Given the description of an element on the screen output the (x, y) to click on. 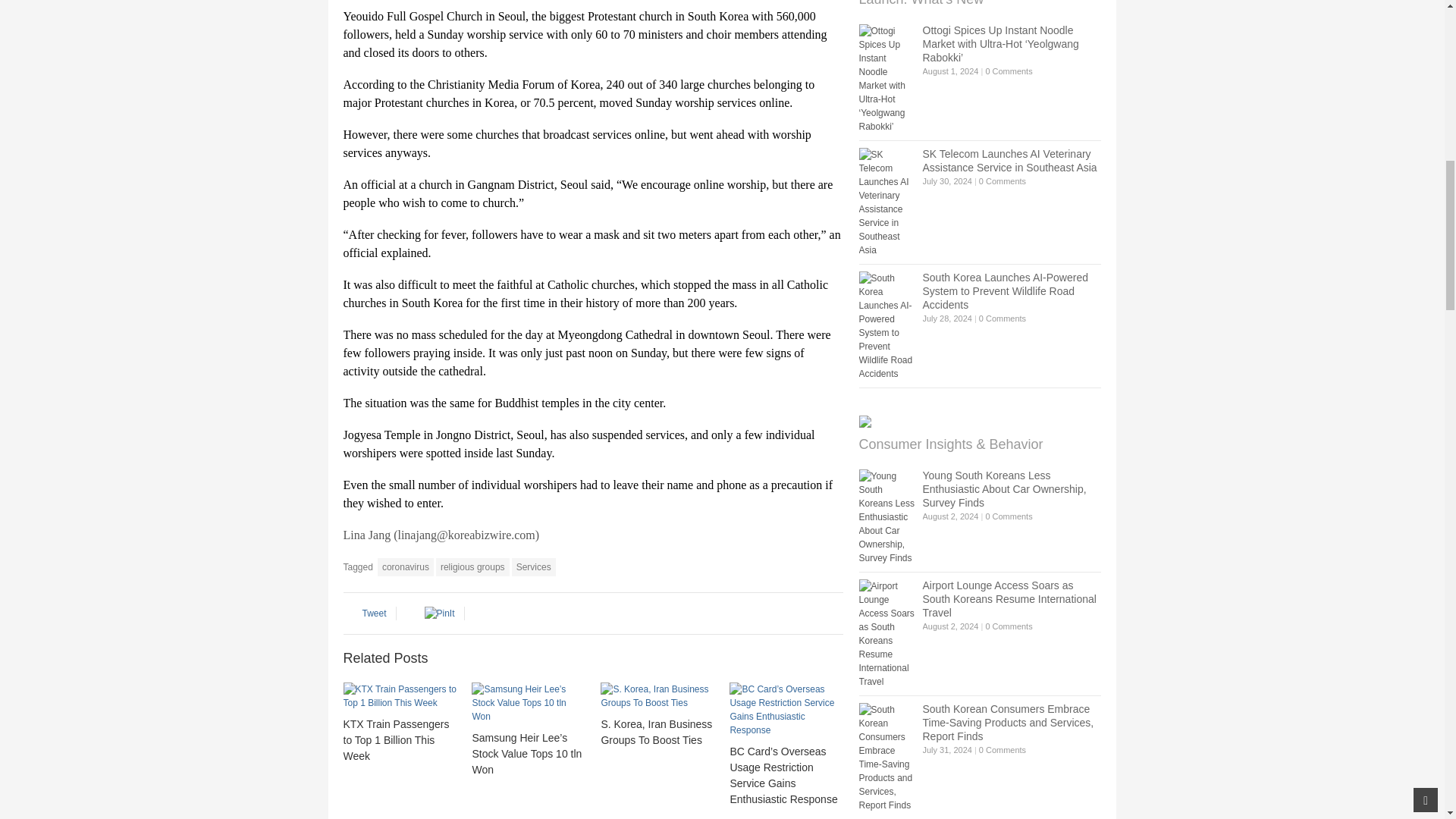
KTX Train Passengers to Top 1 Billion This Week (395, 740)
KTX Train Passengers to Top 1 Billion This Week (399, 696)
